Given the description of an element on the screen output the (x, y) to click on. 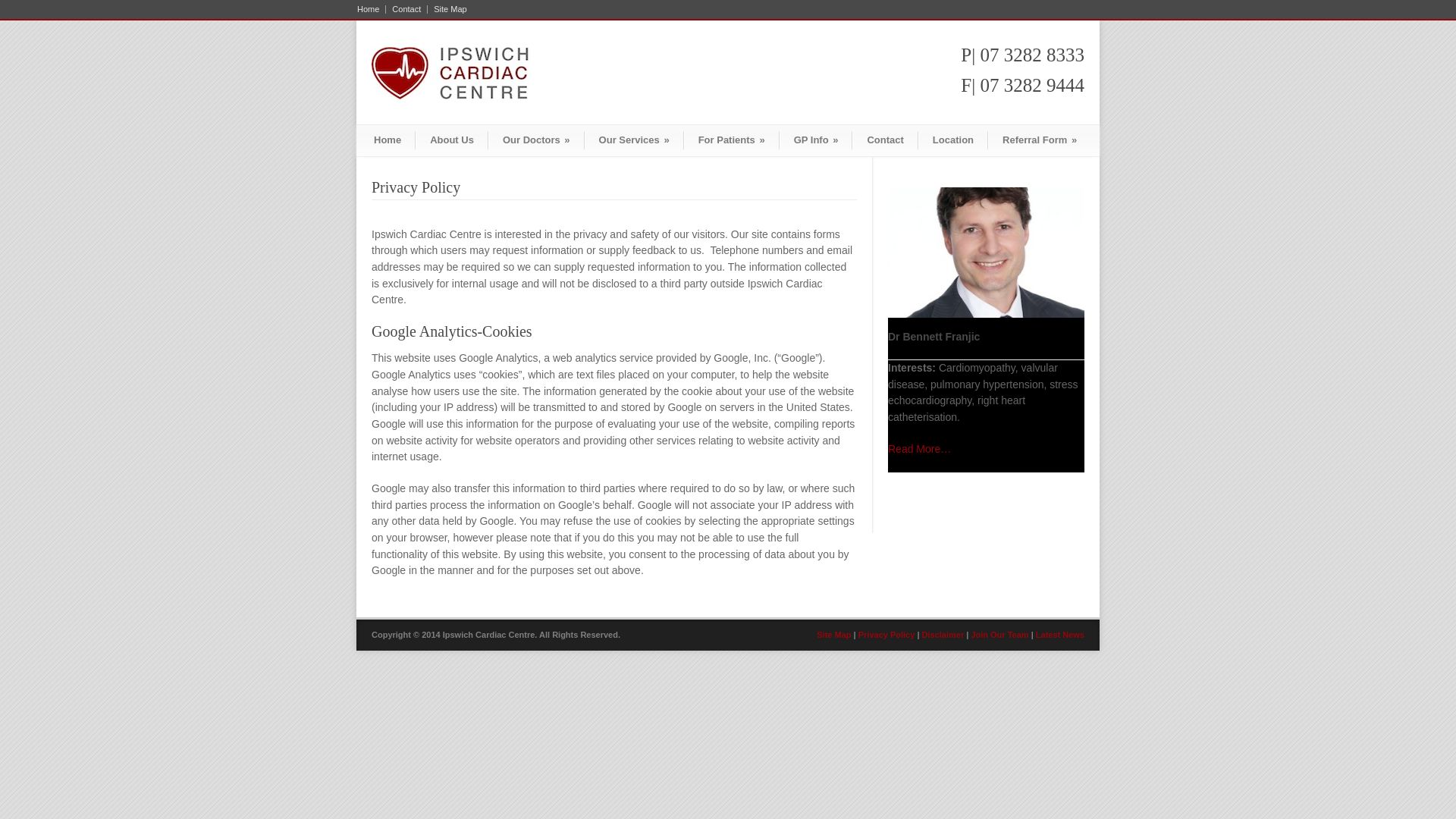
Contact Element type: text (884, 140)
About Us Element type: text (451, 140)
Site Map Element type: text (833, 634)
Site Map Element type: text (446, 9)
Latest News Element type: text (1059, 634)
Disclaimer Element type: text (943, 634)
Location Element type: text (953, 140)
Home Element type: text (371, 9)
Privacy Policy Element type: text (886, 634)
Home Element type: text (387, 140)
Join Our Team Element type: text (999, 634)
Contact Element type: text (406, 9)
